Given the description of an element on the screen output the (x, y) to click on. 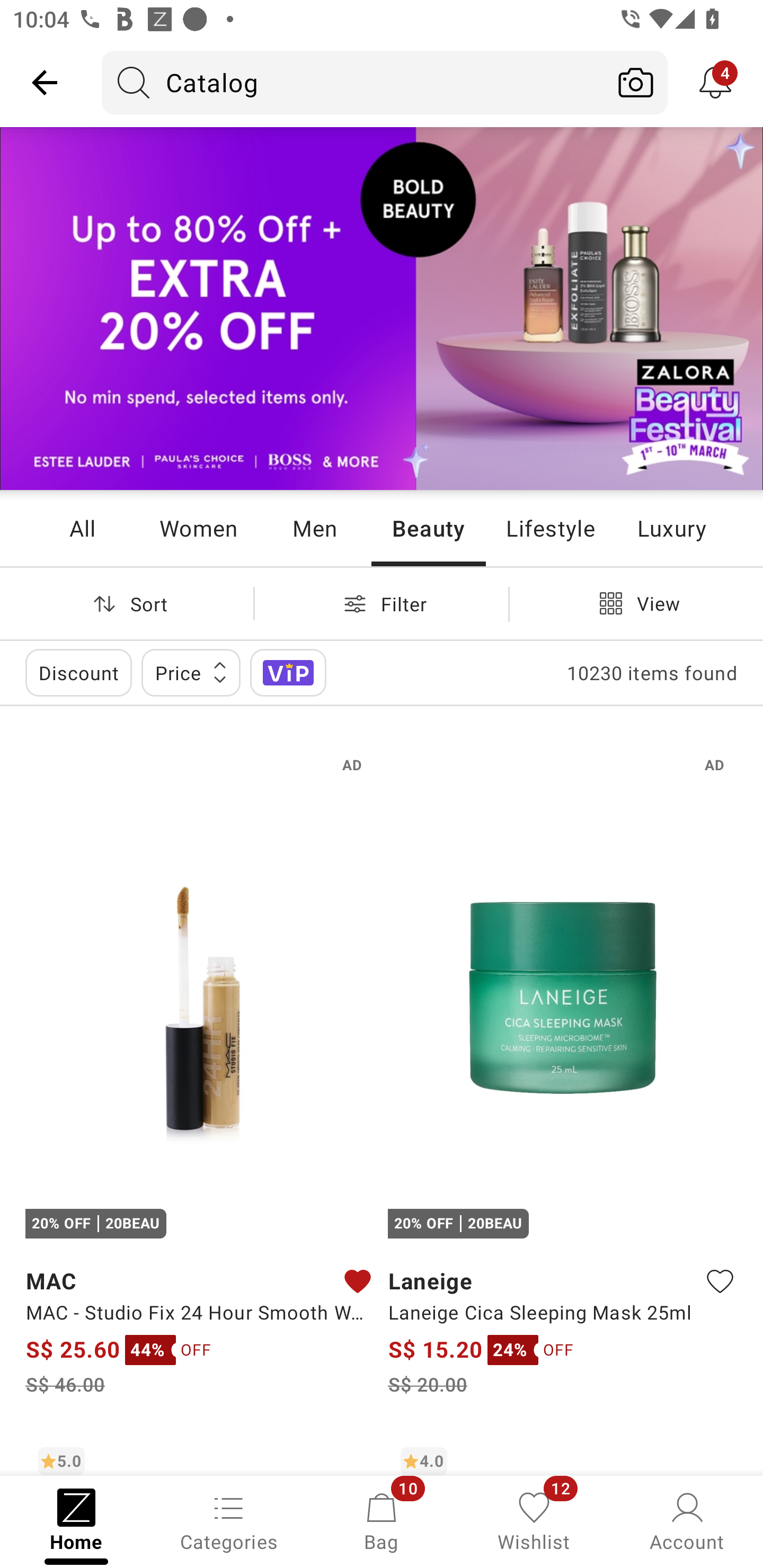
Navigate up (44, 82)
Catalog (352, 82)
All (82, 527)
Women (198, 527)
Men (314, 527)
Lifestyle (550, 527)
Luxury (671, 527)
Sort (126, 603)
Filter (381, 603)
View (636, 603)
Discount (78, 672)
Price (190, 672)
Categories (228, 1519)
Bag, 10 new notifications Bag (381, 1519)
Wishlist, 12 new notifications Wishlist (533, 1519)
Account (686, 1519)
